Given the description of an element on the screen output the (x, y) to click on. 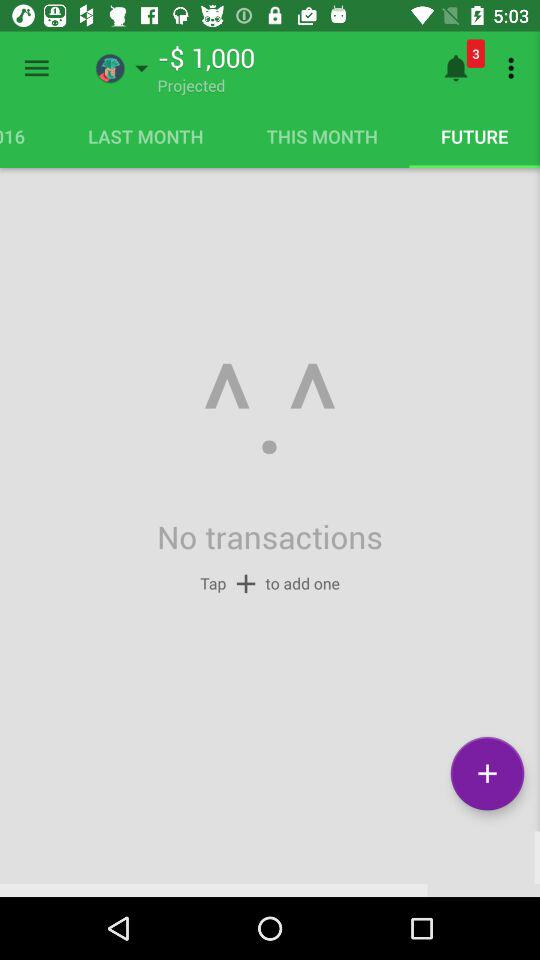
the  symbol shown inside the circle at the bottom right corner of the page (486, 773)
click on plus icon (486, 773)
click on the 3 vertical dots at the top right corner of the page (514, 68)
